Given the description of an element on the screen output the (x, y) to click on. 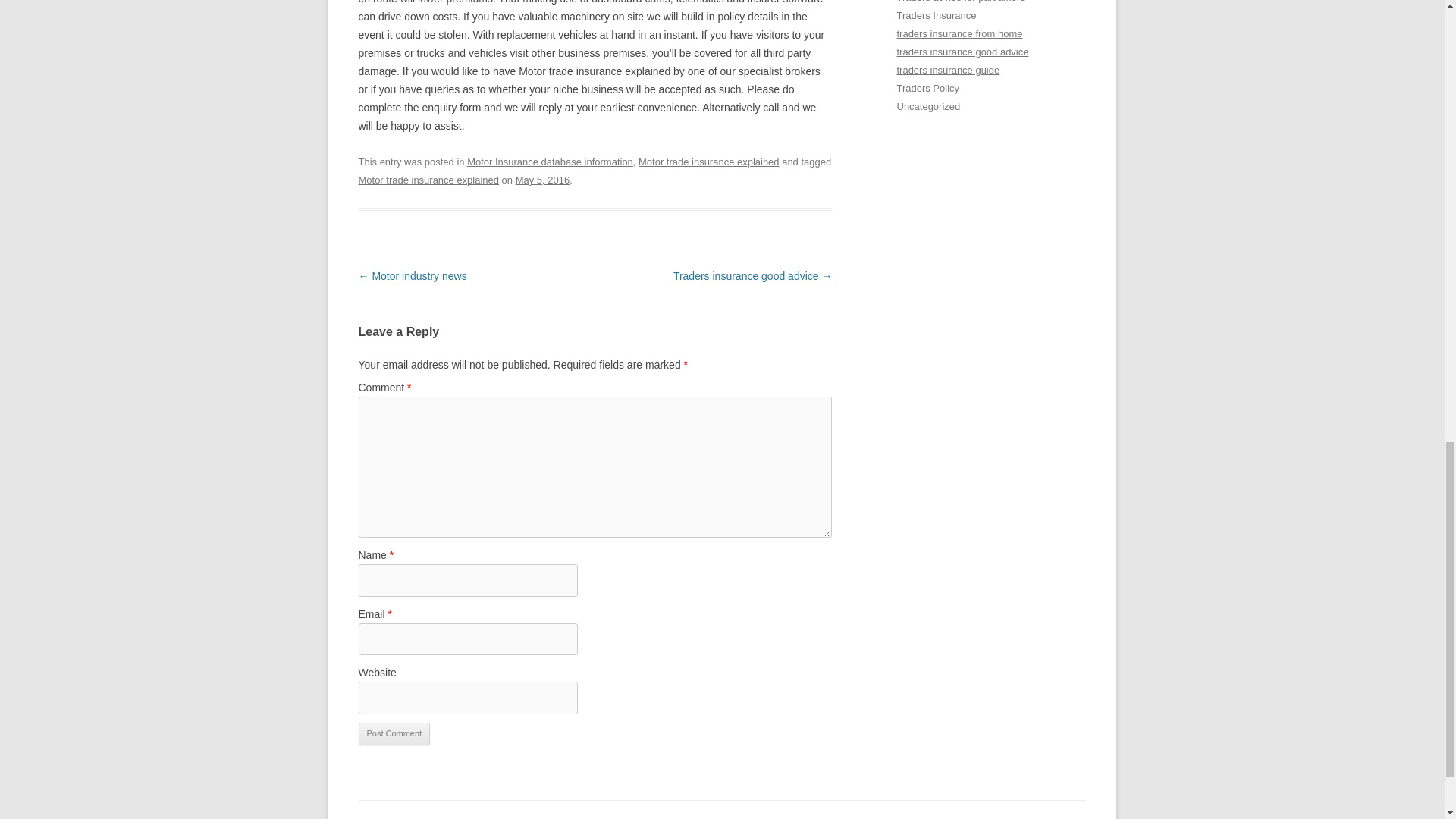
May 5, 2016 (542, 179)
Post Comment (393, 733)
Post Comment (393, 733)
Motor trade insurance explained (708, 161)
Motor trade insurance explained (428, 179)
13:54 (542, 179)
Motor Insurance database information (550, 161)
